Given the description of an element on the screen output the (x, y) to click on. 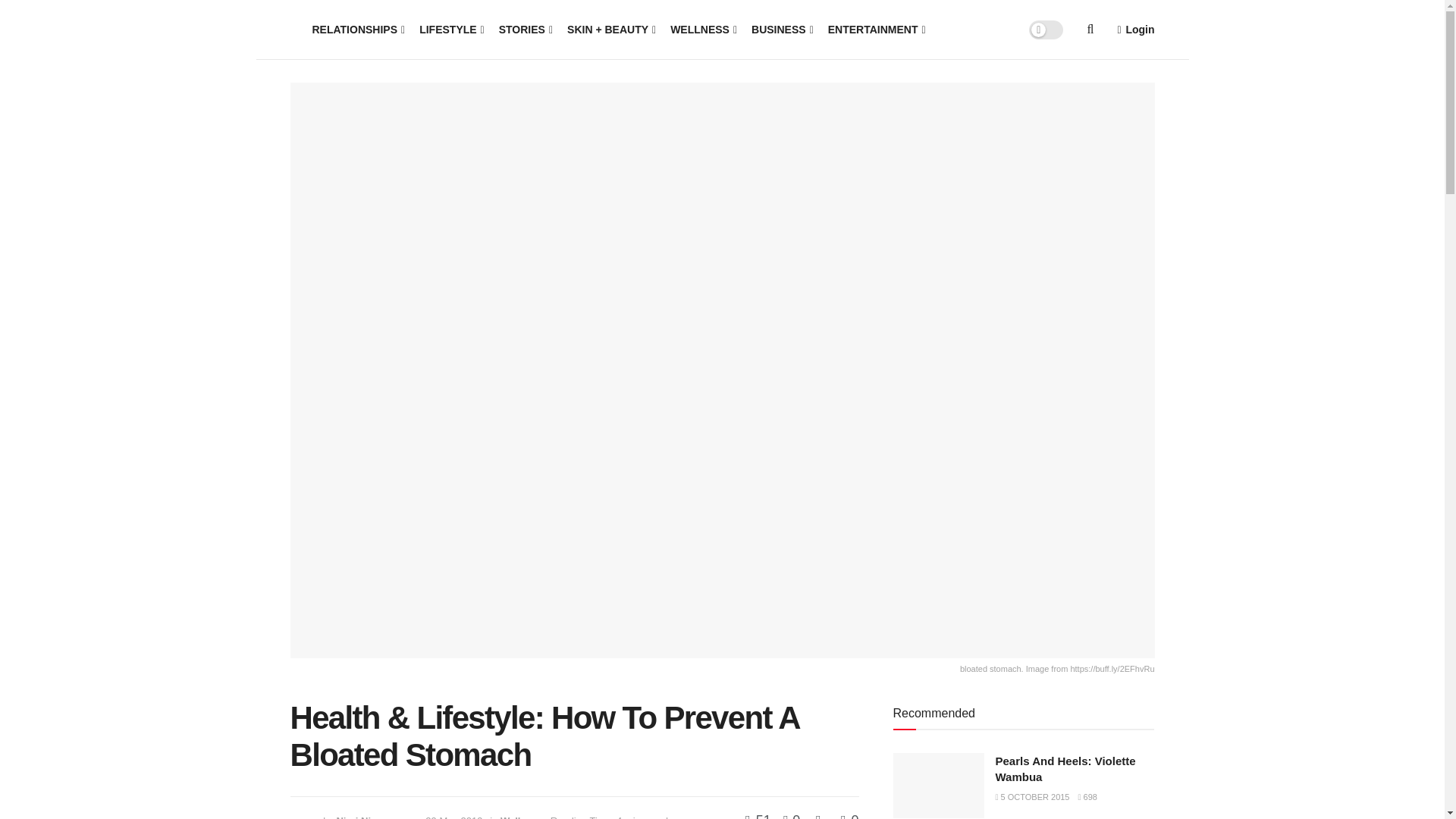
ENTERTAINMENT (875, 29)
RELATIONSHIPS (358, 29)
WELLNESS (702, 29)
STORIES (524, 29)
BUSINESS (780, 29)
LIFESTYLE (450, 29)
